Given the description of an element on the screen output the (x, y) to click on. 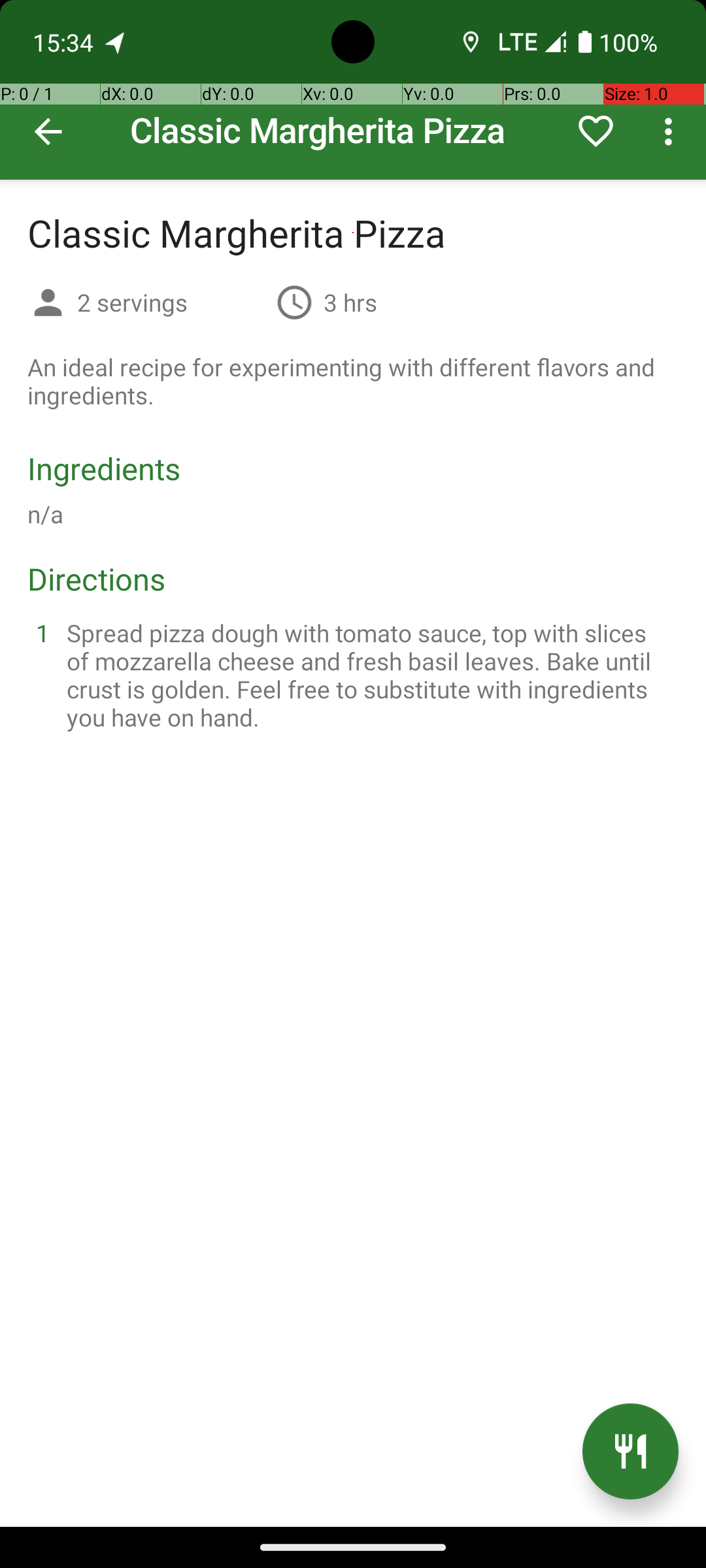
Spread pizza dough with tomato sauce, top with slices of mozzarella cheese and fresh basil leaves. Bake until crust is golden. Feel free to substitute with ingredients you have on hand. Element type: android.widget.TextView (368, 674)
